Given the description of an element on the screen output the (x, y) to click on. 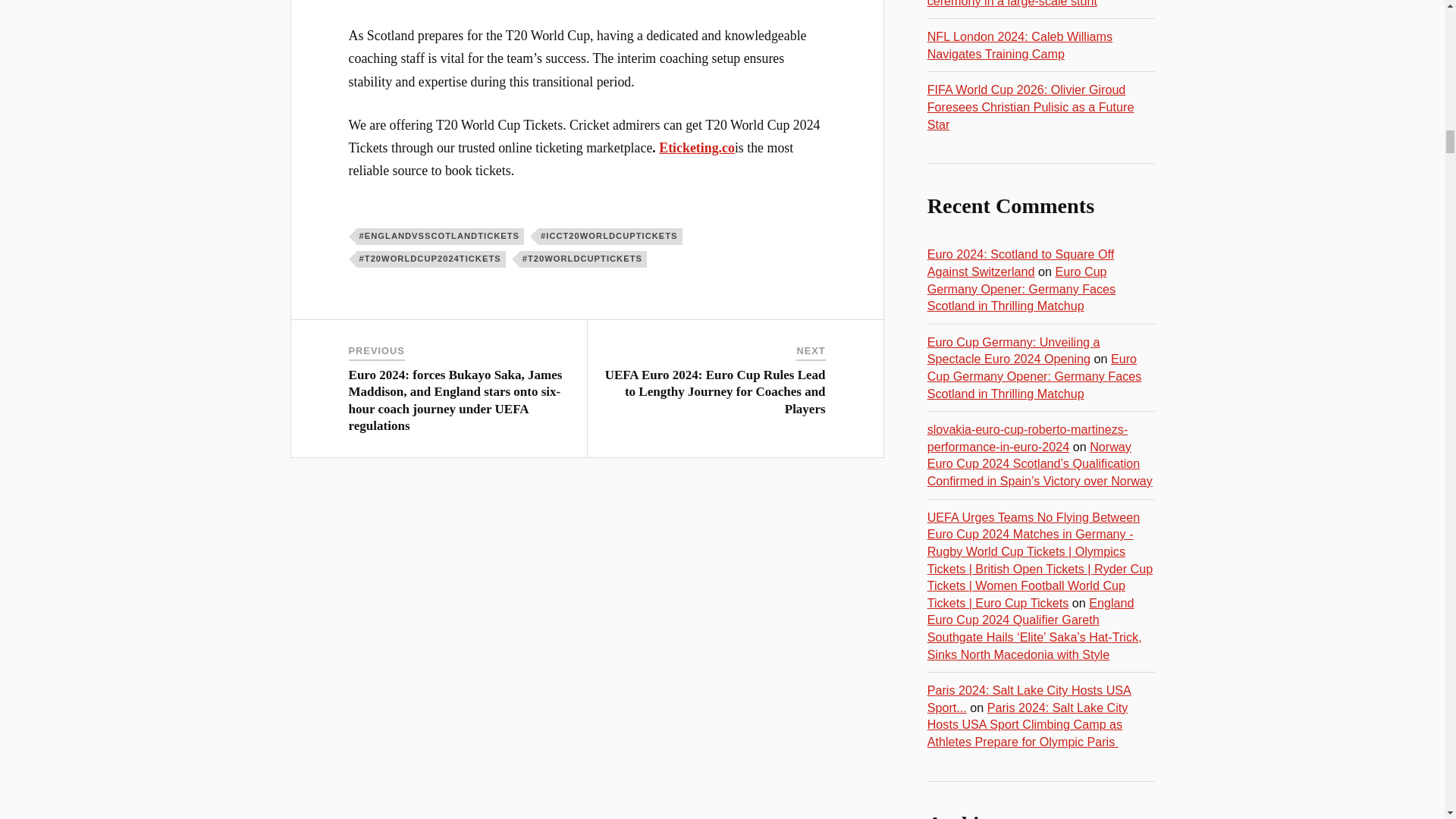
Eticketing.co (697, 147)
